Given the description of an element on the screen output the (x, y) to click on. 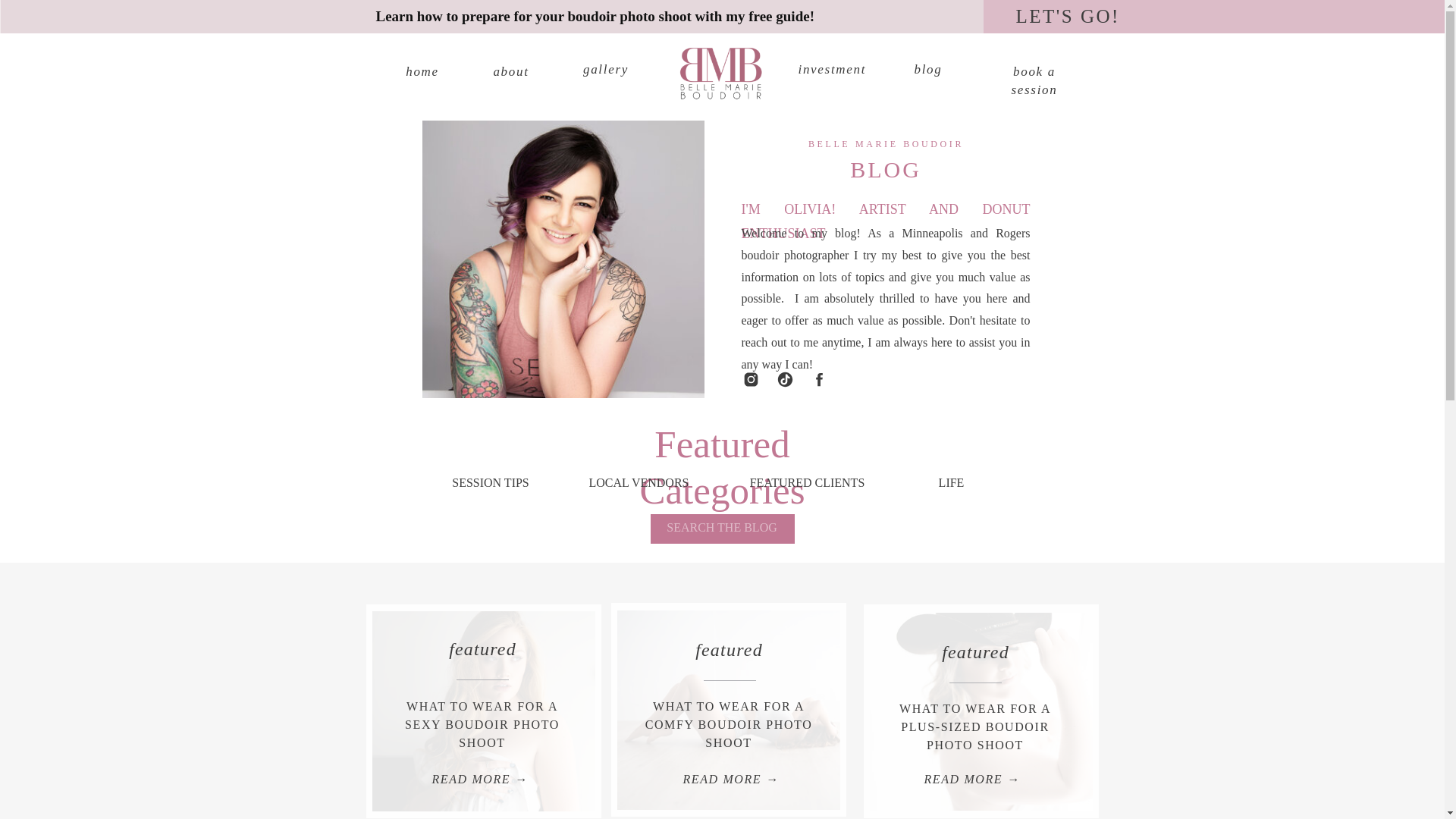
BLOG (885, 167)
book a session (1034, 70)
SESSION TIPS (490, 481)
LET'S GO! (1088, 15)
FEATURED CLIENTS (807, 481)
home (421, 70)
gallery (605, 69)
blog (928, 69)
about  (513, 70)
LOCAL VENDORS (638, 481)
LIFE (951, 481)
investment (830, 69)
